Given the description of an element on the screen output the (x, y) to click on. 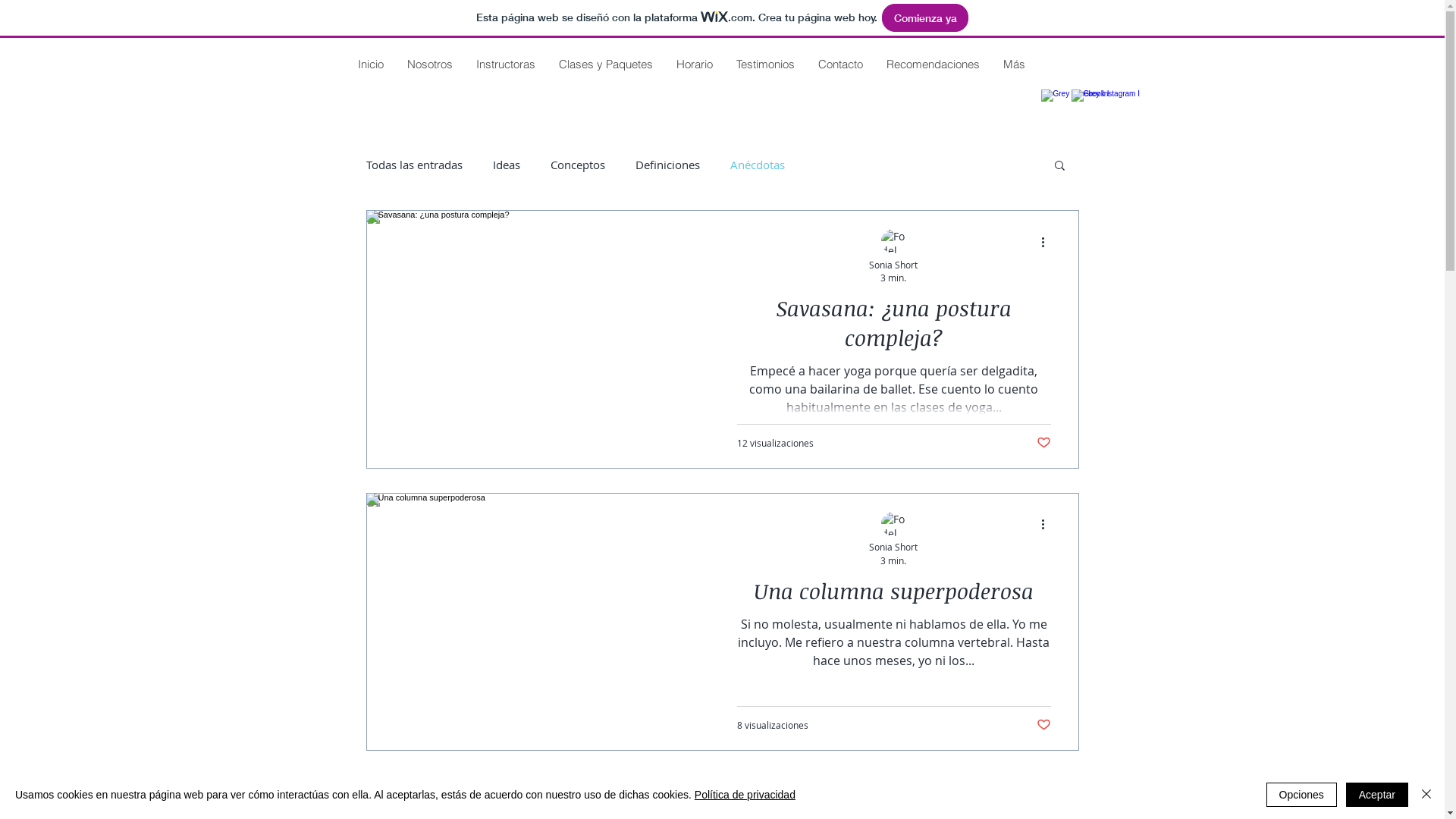
Instructoras Element type: text (505, 63)
Recomendaciones Element type: text (931, 63)
Contacto Element type: text (839, 63)
Entrada no marcada como Me Gusta Element type: text (1042, 442)
Conceptos Element type: text (577, 164)
Entrada no marcada como Me Gusta Element type: text (1042, 724)
Todas las entradas Element type: text (413, 164)
Inicio Element type: text (369, 63)
Opciones Element type: text (1301, 794)
Aceptar Element type: text (1377, 794)
Definiciones Element type: text (667, 164)
Sonia Short Element type: text (893, 264)
Testimonios Element type: text (764, 63)
Clases y Paquetes Element type: text (604, 63)
Ideas Element type: text (506, 164)
Una columna superpoderosa Element type: text (894, 594)
Nosotros Element type: text (428, 63)
Horario Element type: text (694, 63)
Sonia Short Element type: text (893, 546)
